Given the description of an element on the screen output the (x, y) to click on. 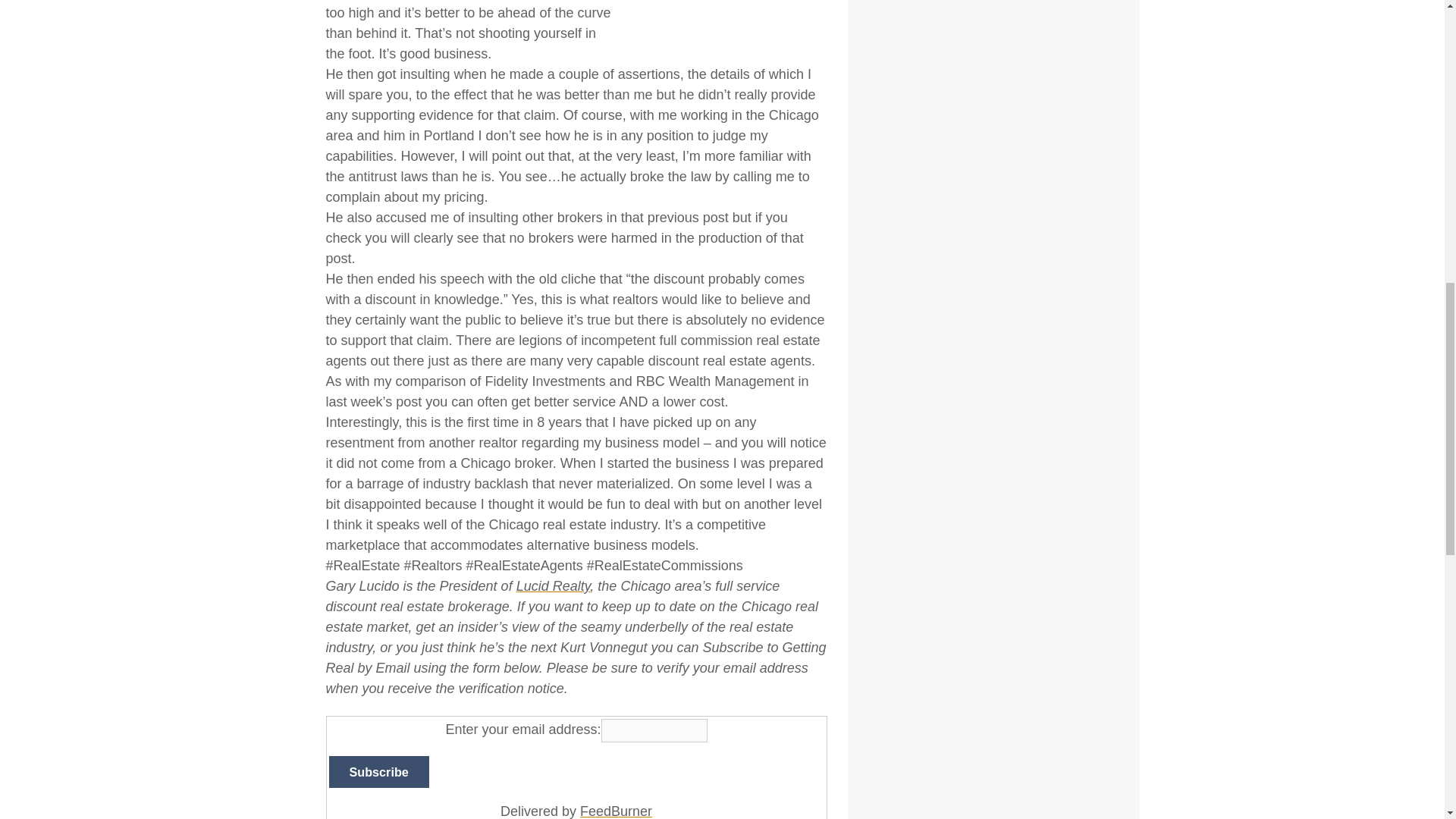
Lucid Realty (553, 585)
Subscribe (379, 771)
Chicago full service, discount real estate broker (553, 585)
Subscribe (379, 771)
FeedBurner (615, 811)
Al Capone exploring real estate (732, 21)
